Given the description of an element on the screen output the (x, y) to click on. 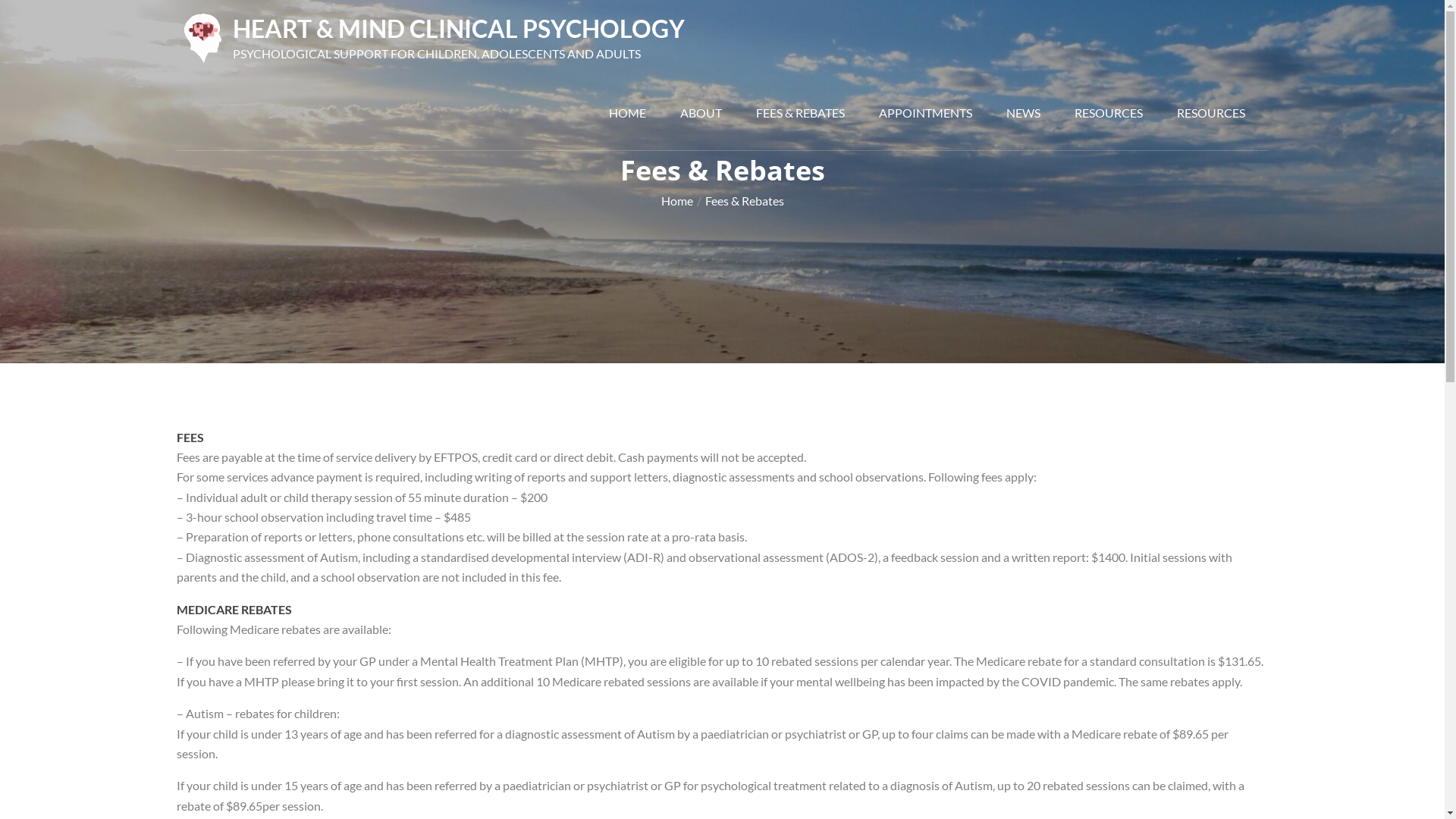
HEART & MIND CLINICAL PSYCHOLOGY Element type: text (458, 28)
NEWS Element type: text (1023, 112)
ABOUT Element type: text (700, 112)
RESOURCES Element type: text (1210, 112)
Home Element type: text (677, 200)
FEES & REBATES Element type: text (800, 112)
RESOURCES Element type: text (1108, 112)
APPOINTMENTS Element type: text (925, 112)
HOME Element type: text (627, 112)
